Given the description of an element on the screen output the (x, y) to click on. 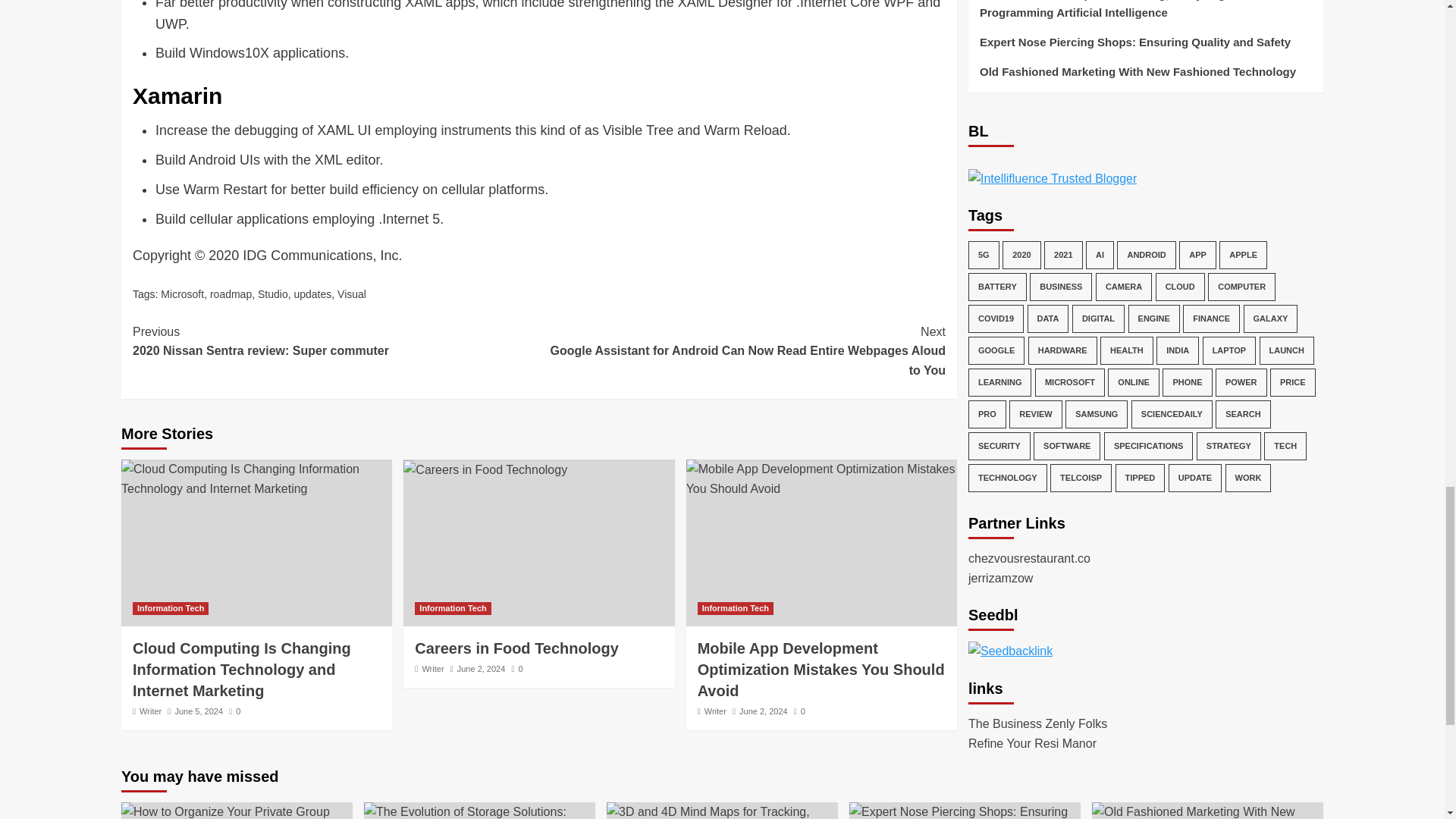
Visual (351, 294)
Studio (272, 294)
Information Tech (170, 608)
roadmap (230, 294)
Microsoft (181, 294)
updates (312, 294)
Writer (150, 710)
Careers in Food Technology (335, 340)
